Given the description of an element on the screen output the (x, y) to click on. 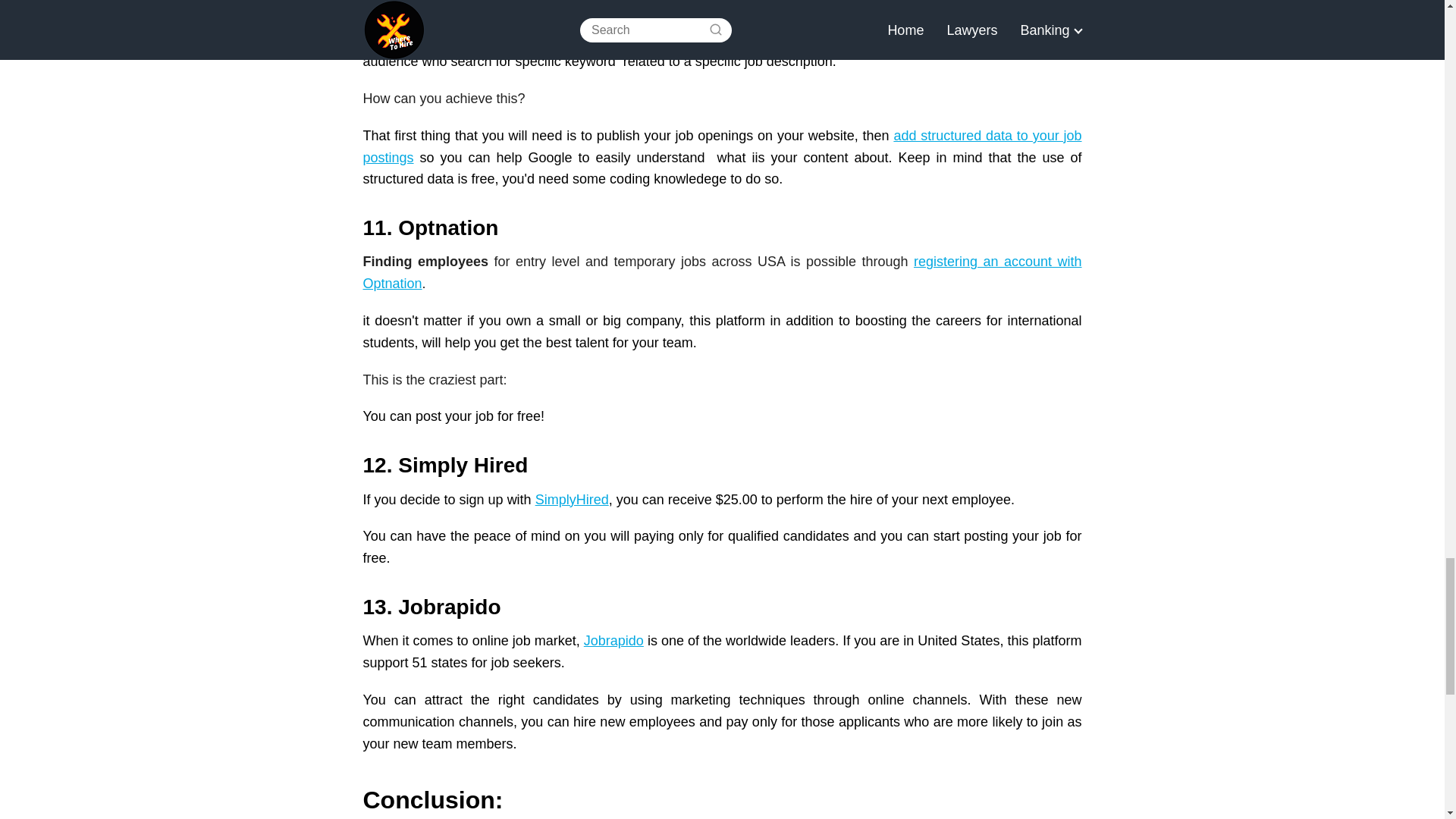
SimplyHired (571, 499)
registering an account with Optnation (721, 272)
add structured data to your job postings (721, 146)
Jobrapido (613, 640)
